Given the description of an element on the screen output the (x, y) to click on. 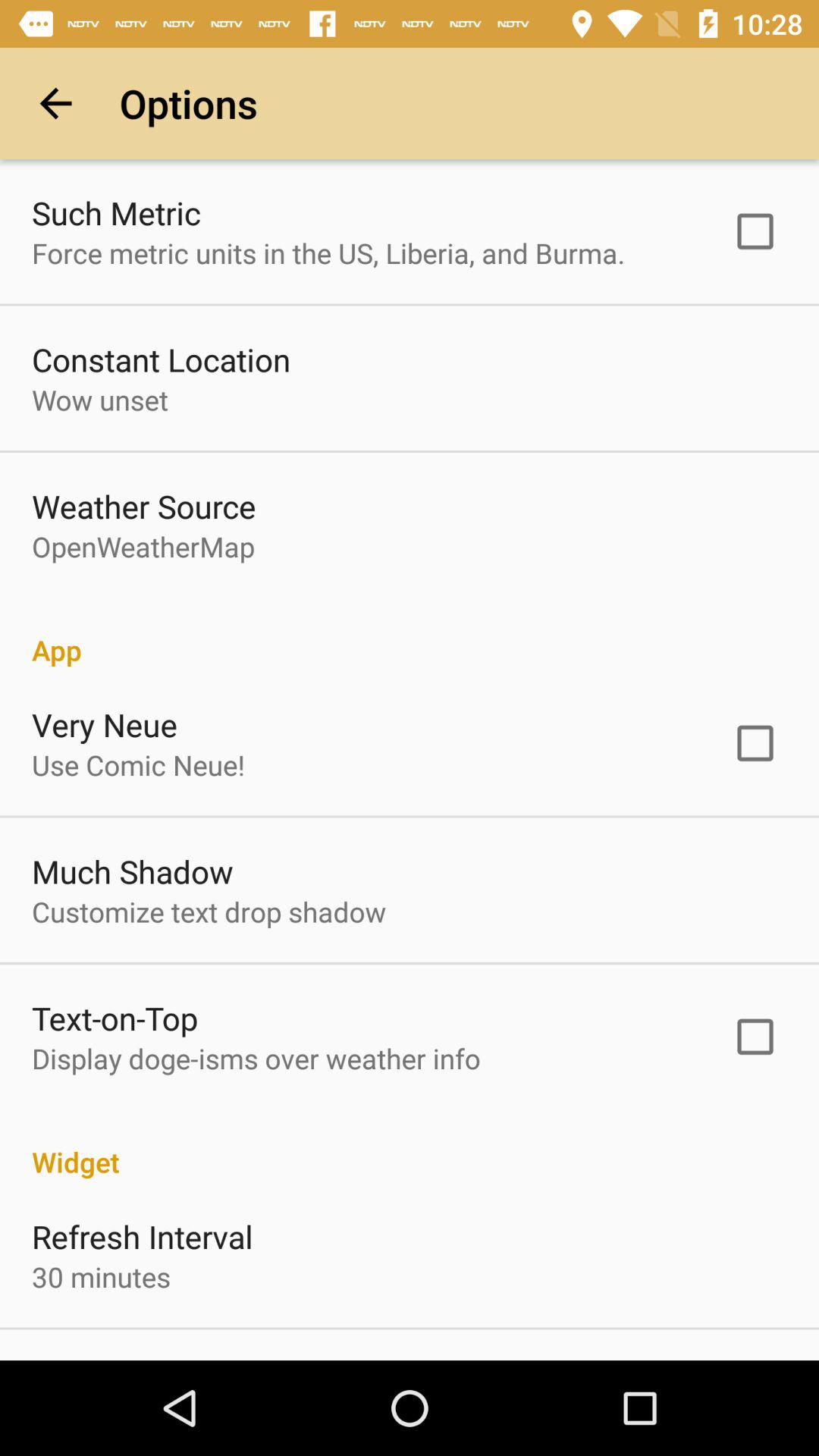
select much shadow app (132, 870)
